Given the description of an element on the screen output the (x, y) to click on. 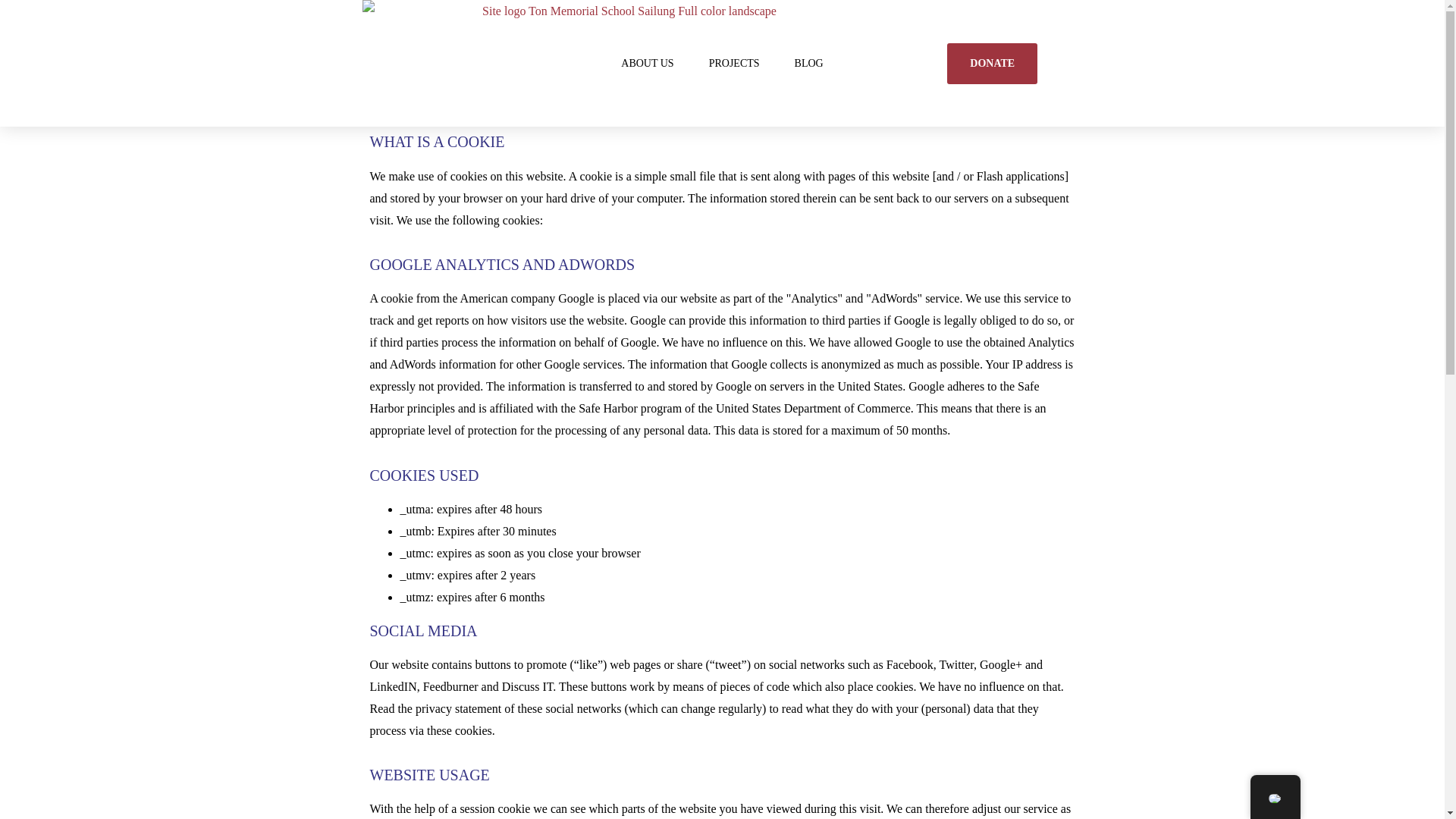
ABOUT US (646, 63)
DONATE (991, 62)
English (1274, 798)
PROJECTS (734, 63)
